Given the description of an element on the screen output the (x, y) to click on. 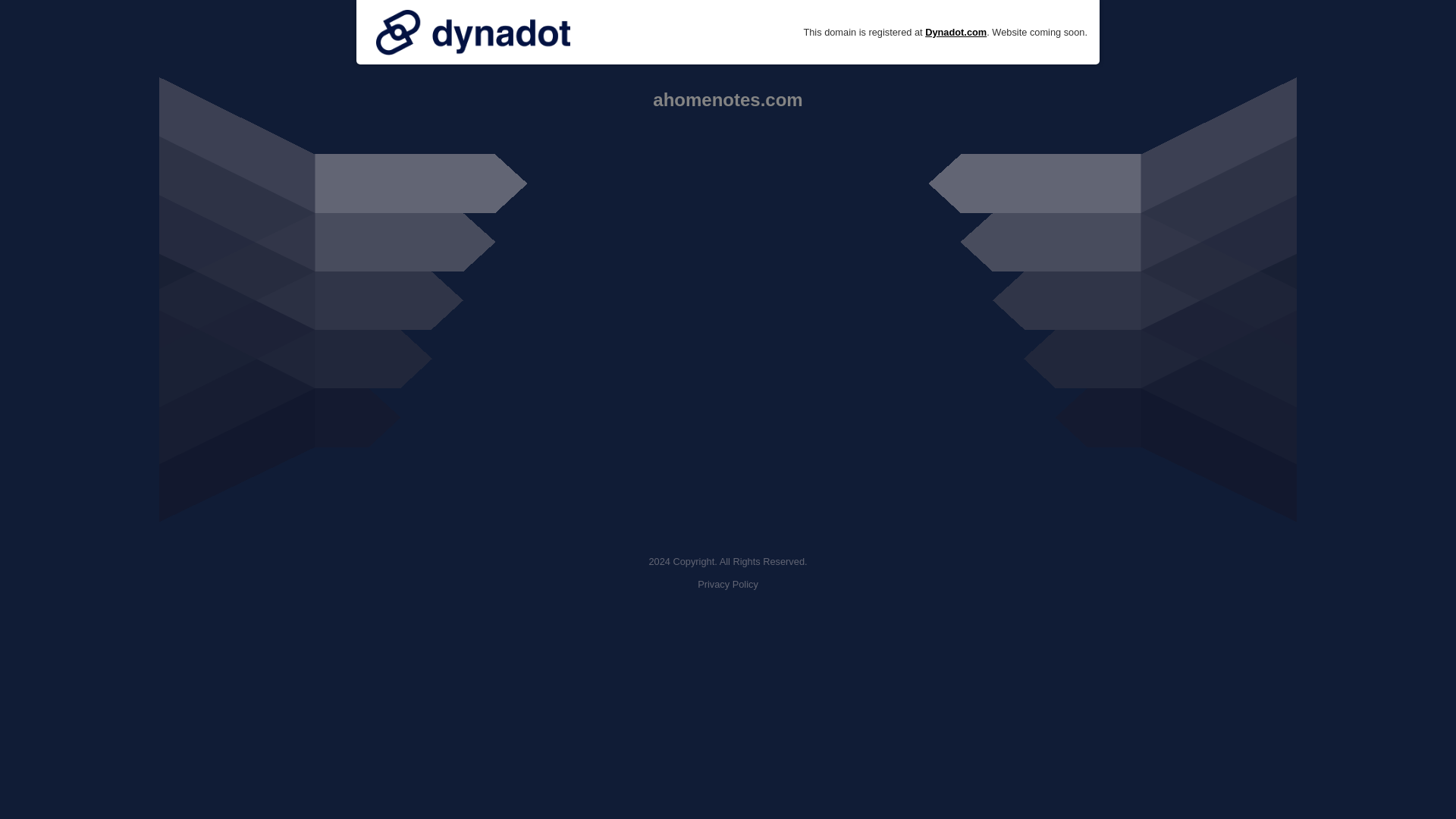
Domain managed at Dynadot.com (473, 31)
Privacy Policy (727, 583)
Dynadot.com (955, 31)
